Given the description of an element on the screen output the (x, y) to click on. 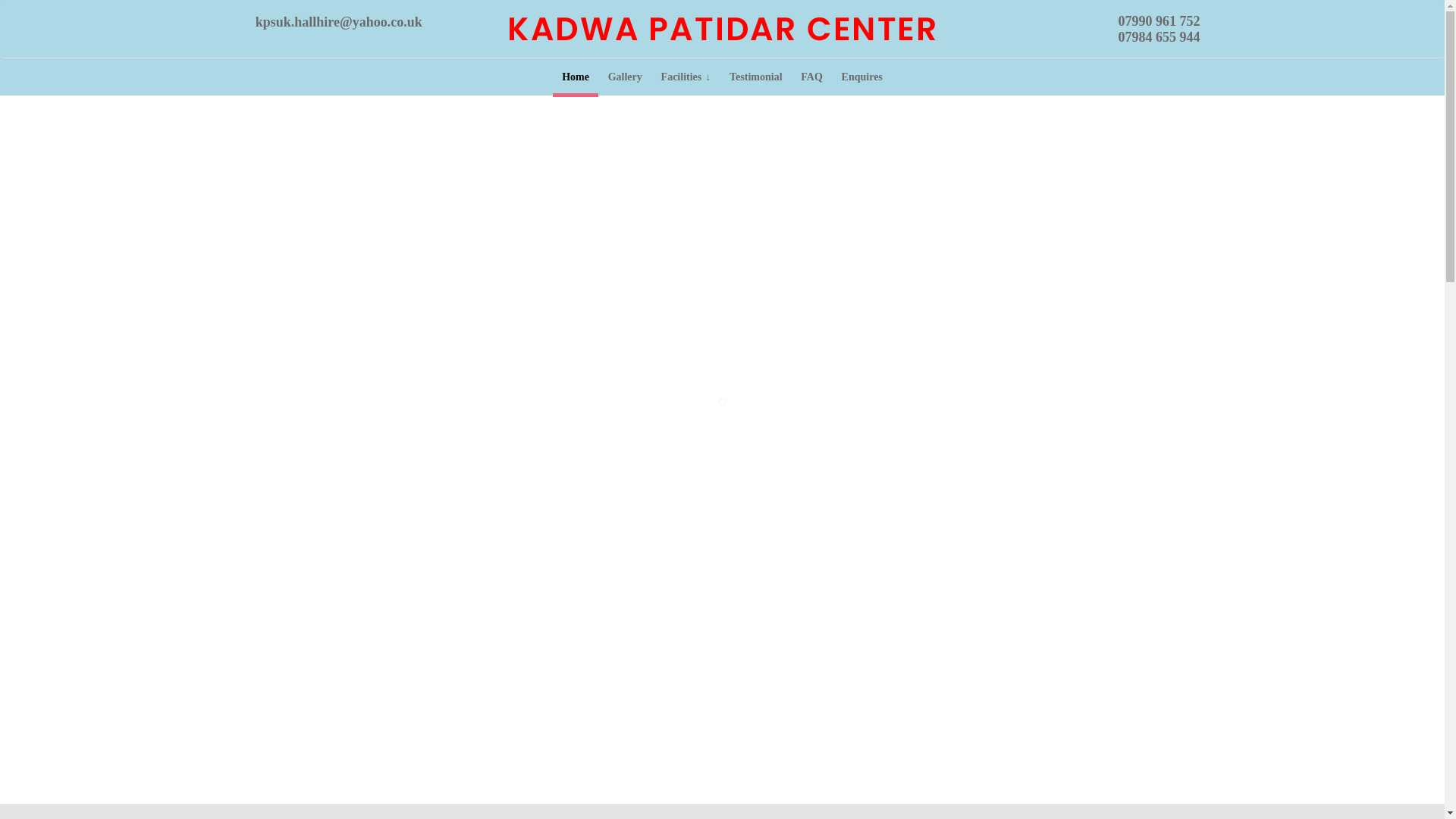
Home (575, 76)
Facilities (684, 76)
Enquires (861, 76)
Testimonial (756, 76)
Gallery (624, 76)
07990 961 752 (1158, 21)
07984 655 944 (1158, 36)
FAQ (811, 76)
SKPS (721, 28)
